Given the description of an element on the screen output the (x, y) to click on. 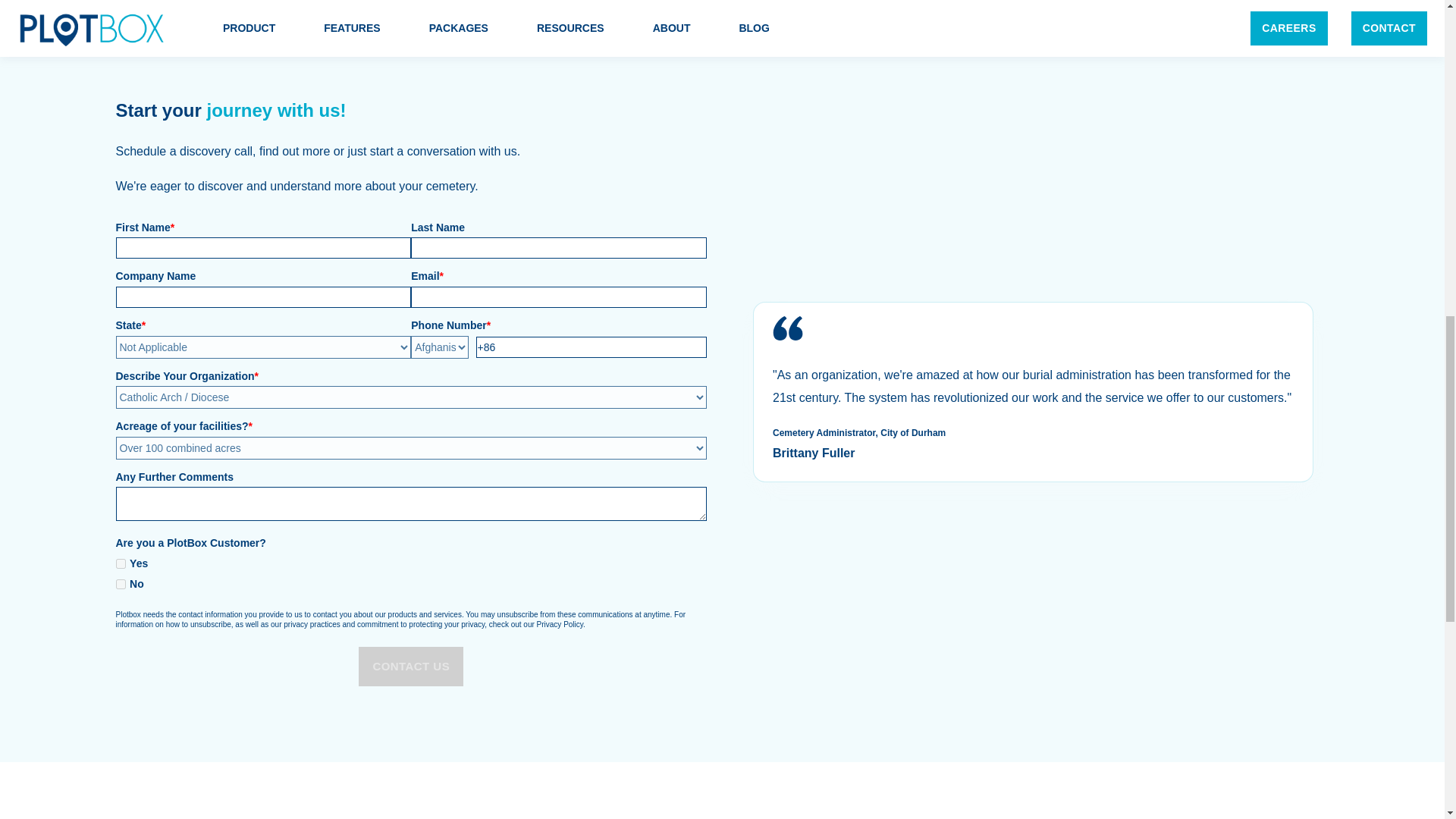
Yes (120, 563)
No (120, 583)
CONTACT US (410, 667)
